Given the description of an element on the screen output the (x, y) to click on. 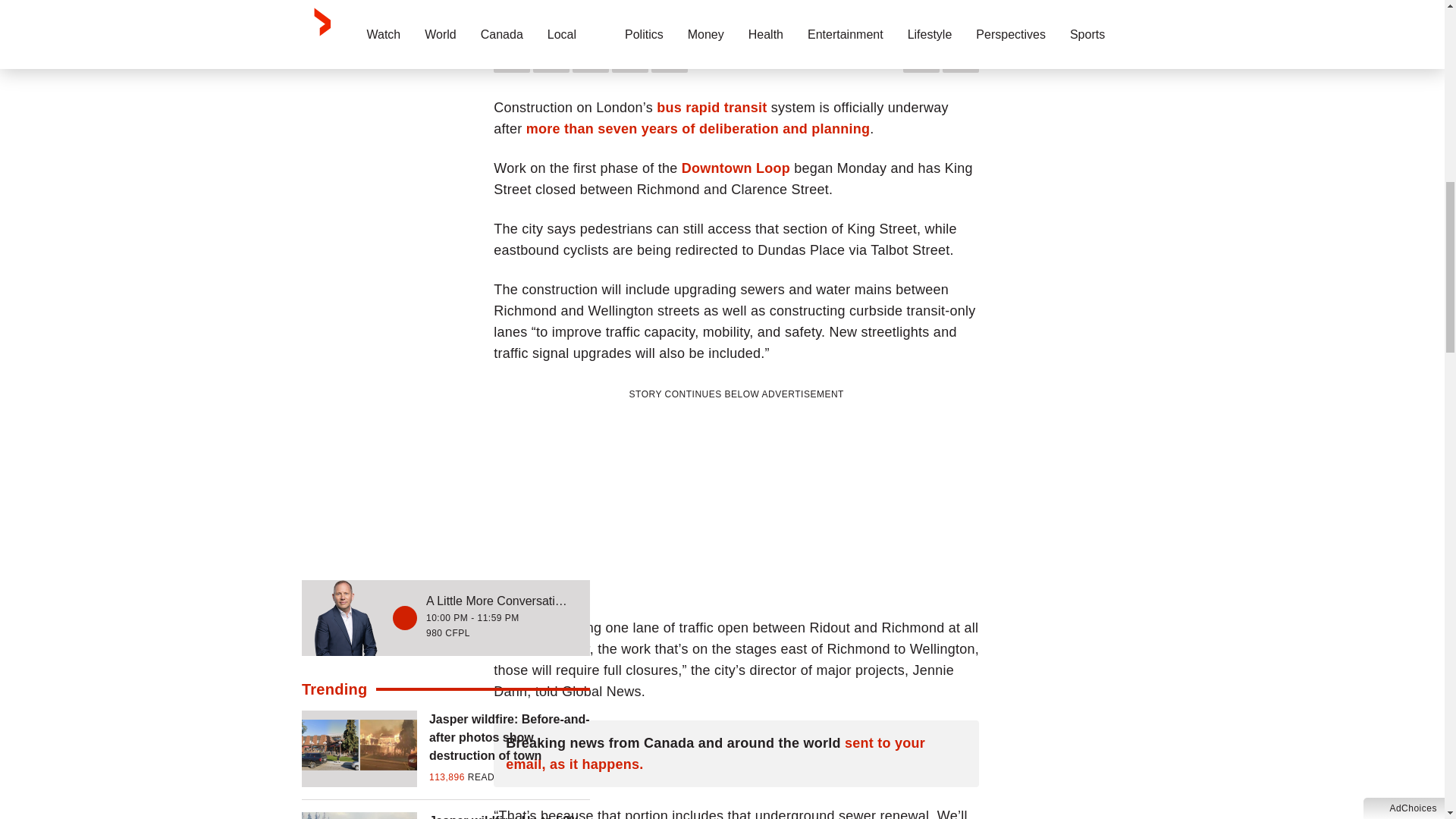
3rd party ad content (736, 497)
